Given the description of an element on the screen output the (x, y) to click on. 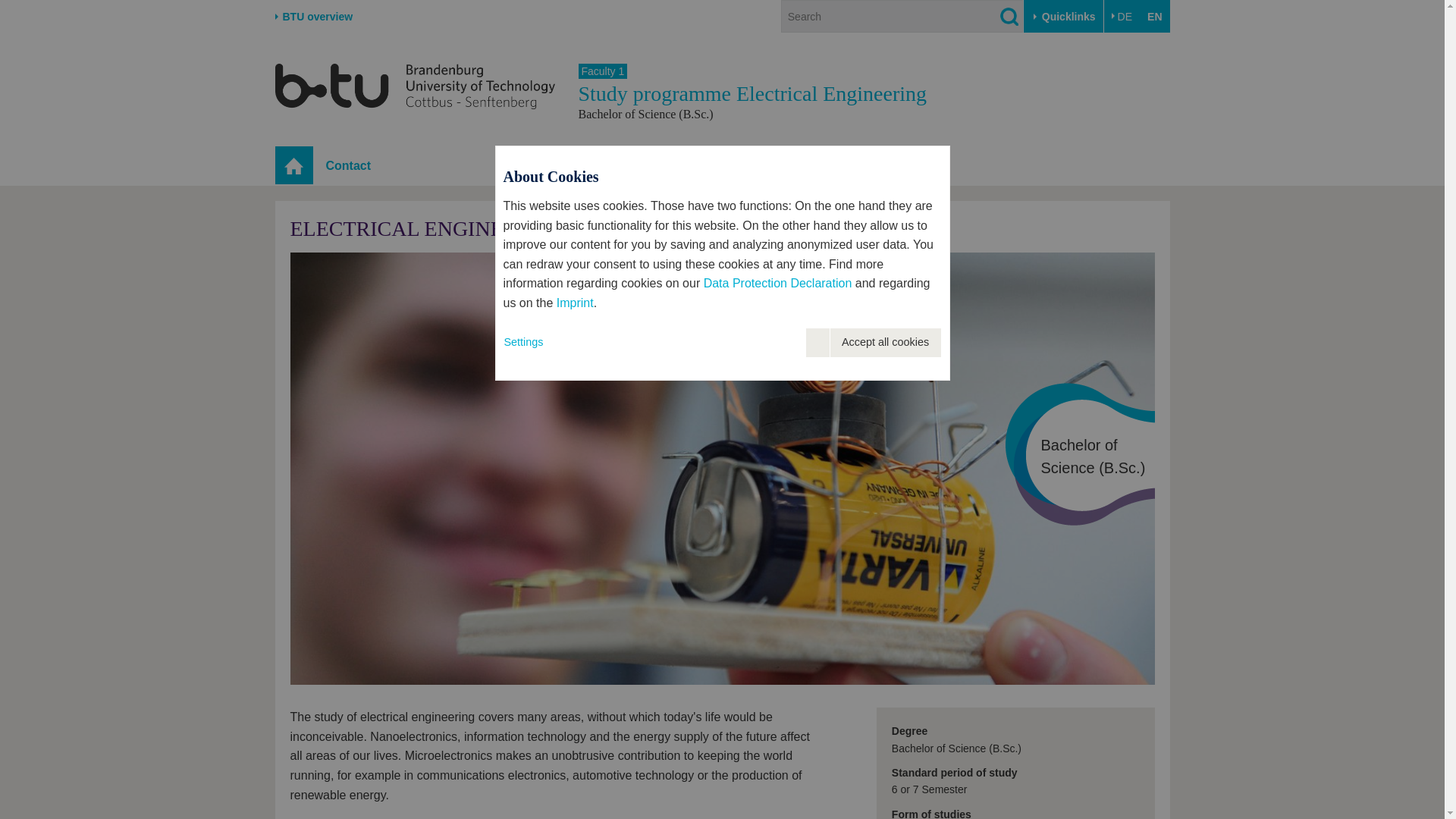
Quicklinks (1063, 16)
DE (1121, 16)
BTU overview (313, 16)
